Given the description of an element on the screen output the (x, y) to click on. 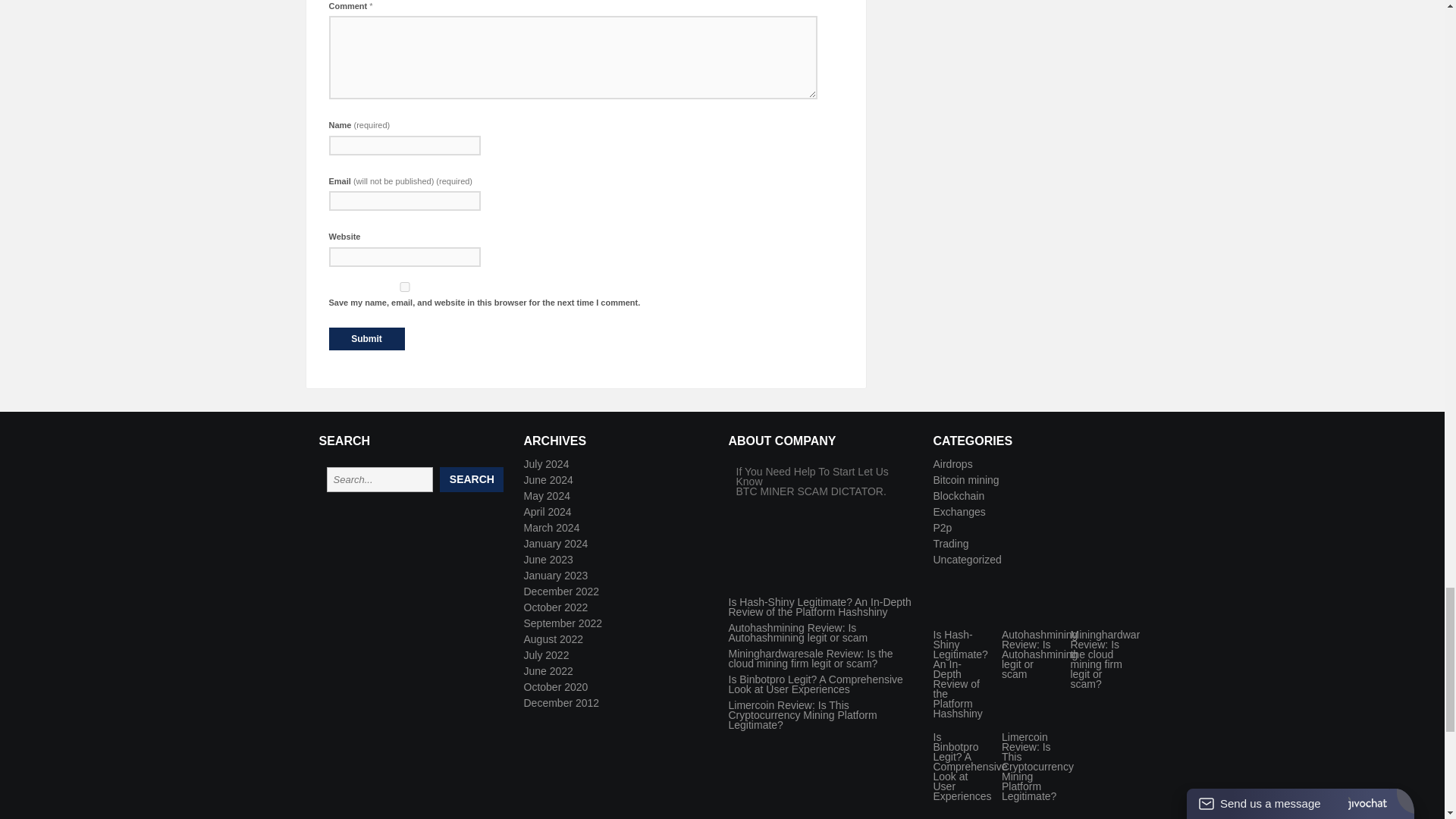
May 2024 (545, 495)
Search (471, 479)
June 2024 (547, 480)
April 2024 (546, 511)
July 2024 (545, 463)
yes (404, 286)
Search (471, 479)
Submit (366, 338)
June 2023 (547, 559)
Search (471, 479)
March 2024 (550, 527)
January 2024 (555, 543)
Submit (366, 338)
